Given the description of an element on the screen output the (x, y) to click on. 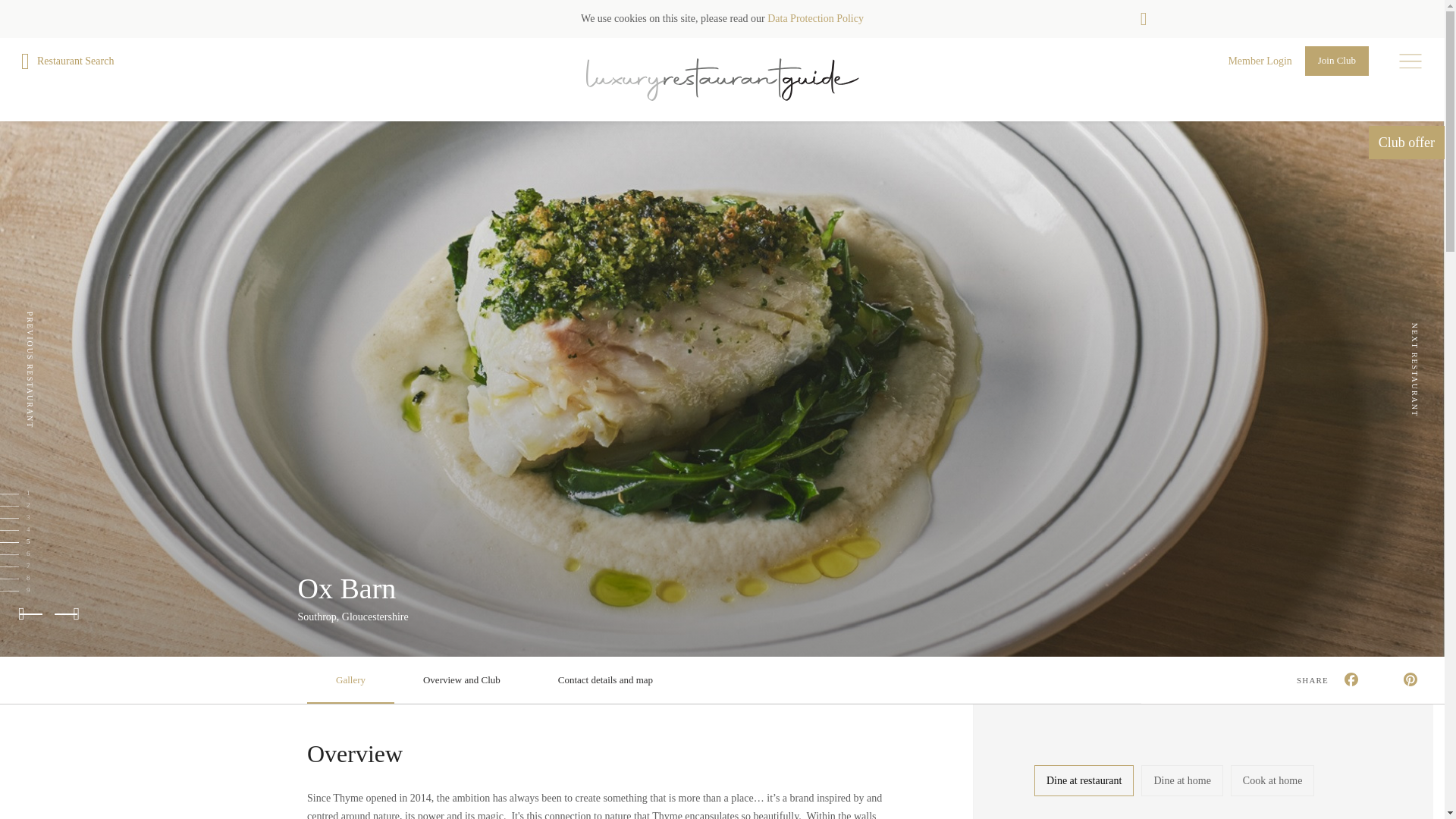
Contact details and map (605, 679)
X (1382, 680)
Join Club (1336, 60)
Dine at restaurant (1083, 780)
Pinterest (1412, 680)
Facebook (1353, 680)
Facebook (1353, 680)
icon-menu (1410, 61)
Member Login (1259, 60)
Dine at home (1182, 780)
Cook at home (1272, 780)
Gallery (350, 679)
X (1382, 680)
Pinterest (1412, 680)
Data Protection Policy (815, 18)
